Given the description of an element on the screen output the (x, y) to click on. 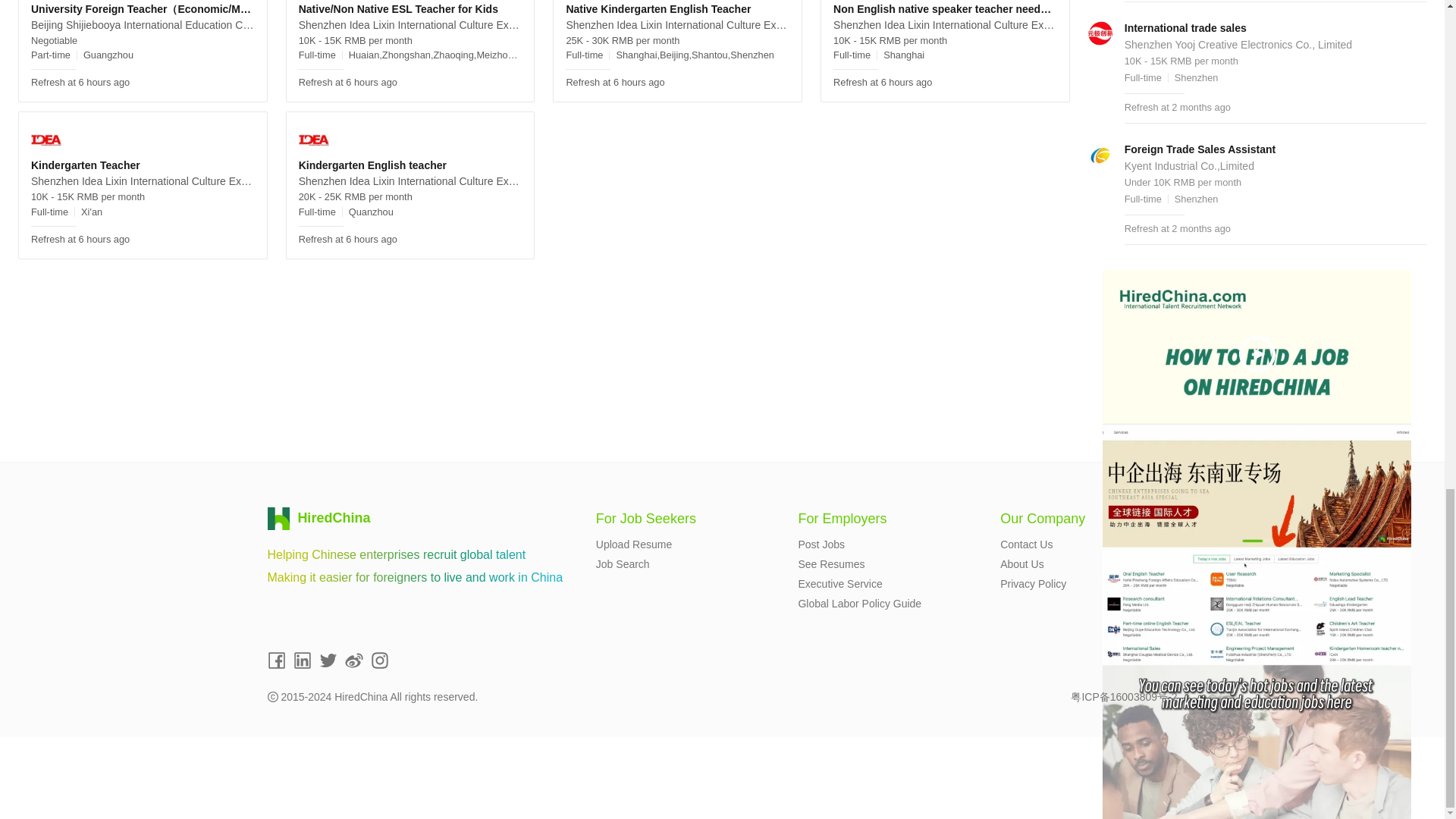
facebook (276, 660)
Job Search  (622, 563)
twitter (327, 660)
linkedin (302, 660)
hiredchina (319, 517)
Contact Us (1026, 544)
See Resumes (830, 563)
